Given the description of an element on the screen output the (x, y) to click on. 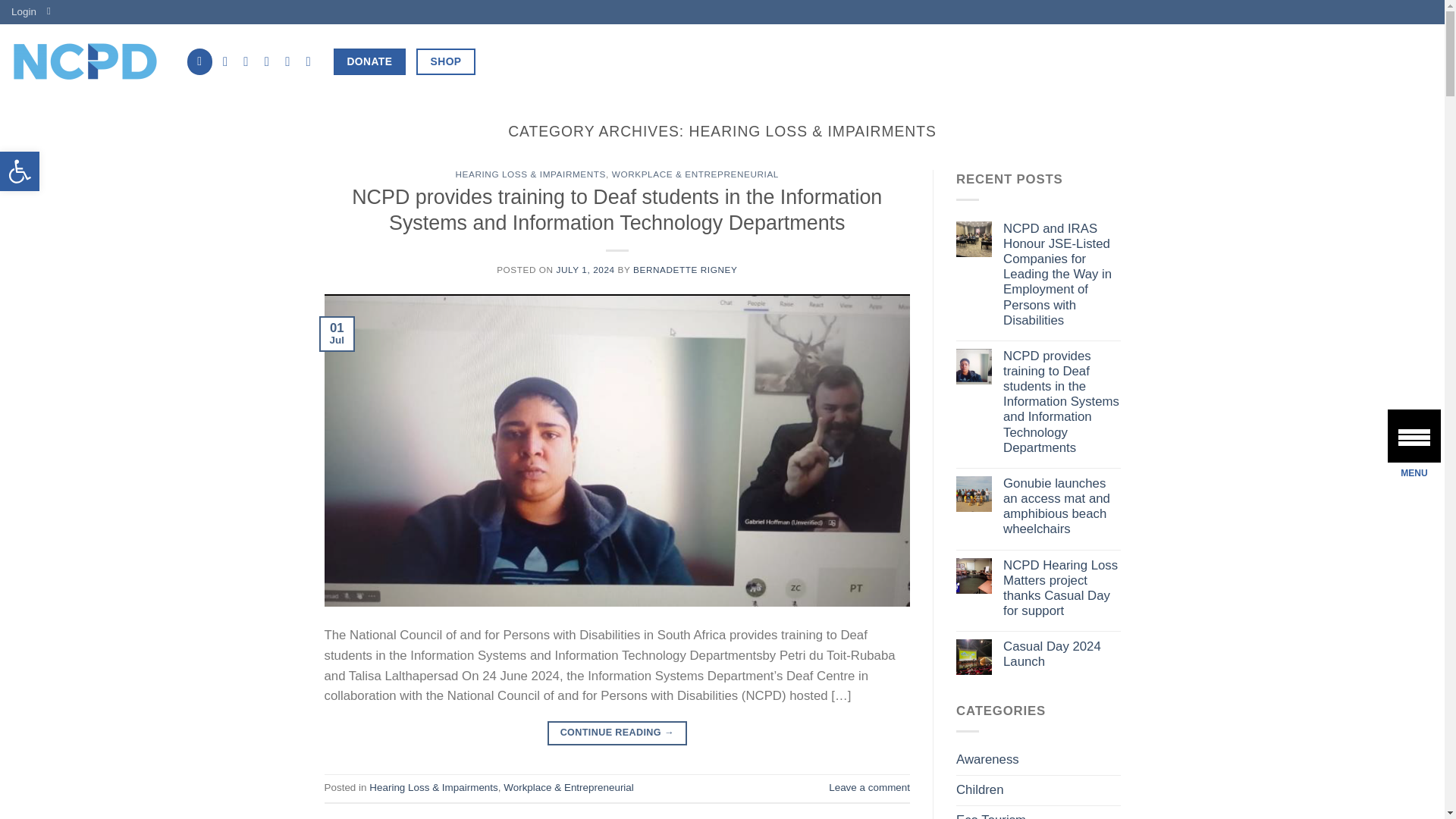
Accessibility Tools (19, 170)
Casual Day 2024 Launch (19, 170)
Accessibility Tools (1061, 654)
NCPD - National Council of and for Persons with Disabilities (19, 170)
